Given the description of an element on the screen output the (x, y) to click on. 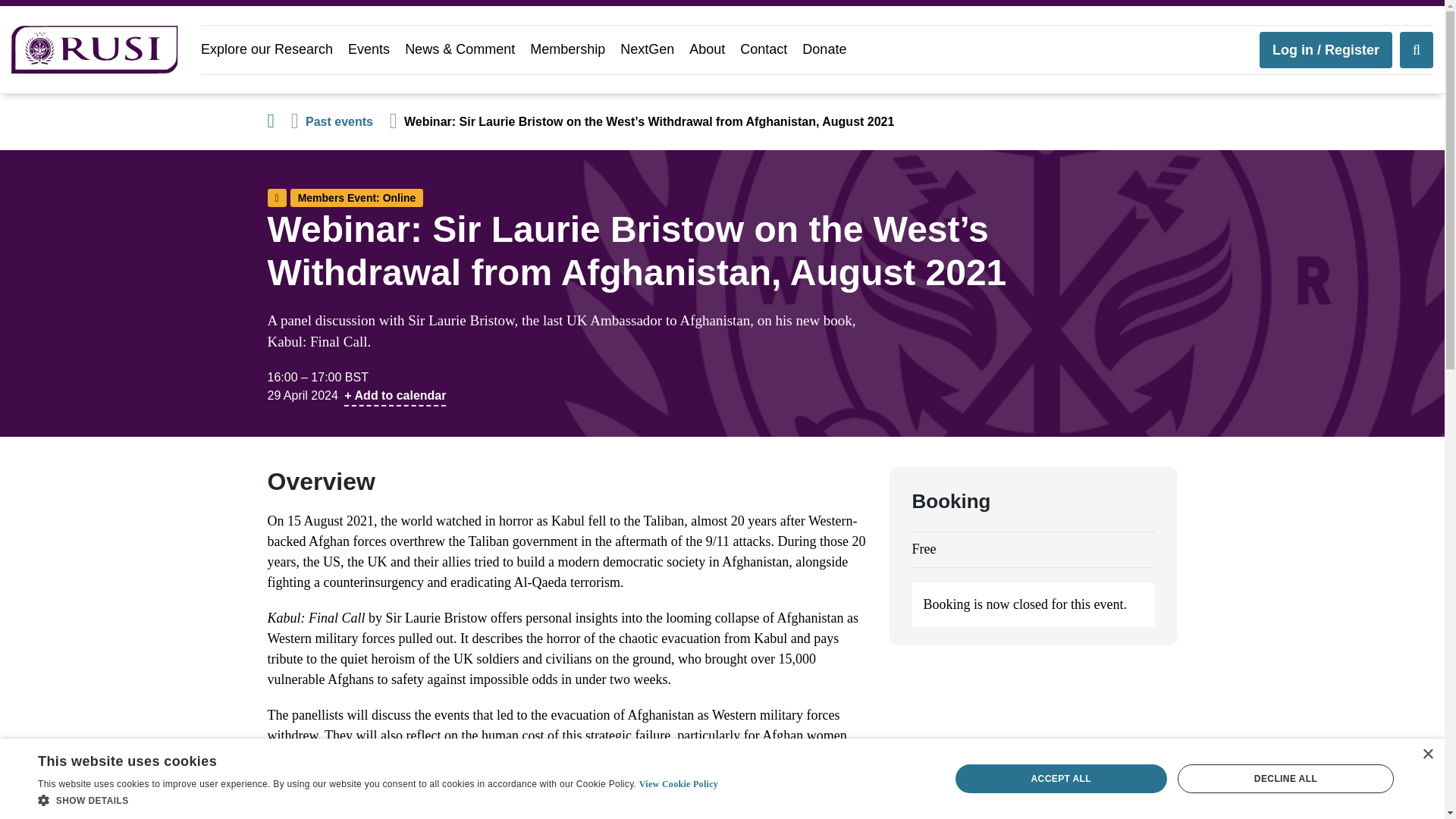
Skip to content (51, 110)
Membership (567, 49)
NextGen (647, 49)
Explore our Research (266, 49)
Donate (823, 49)
Past events (338, 121)
Members Event: Online (356, 198)
Contact (763, 49)
